Given the description of an element on the screen output the (x, y) to click on. 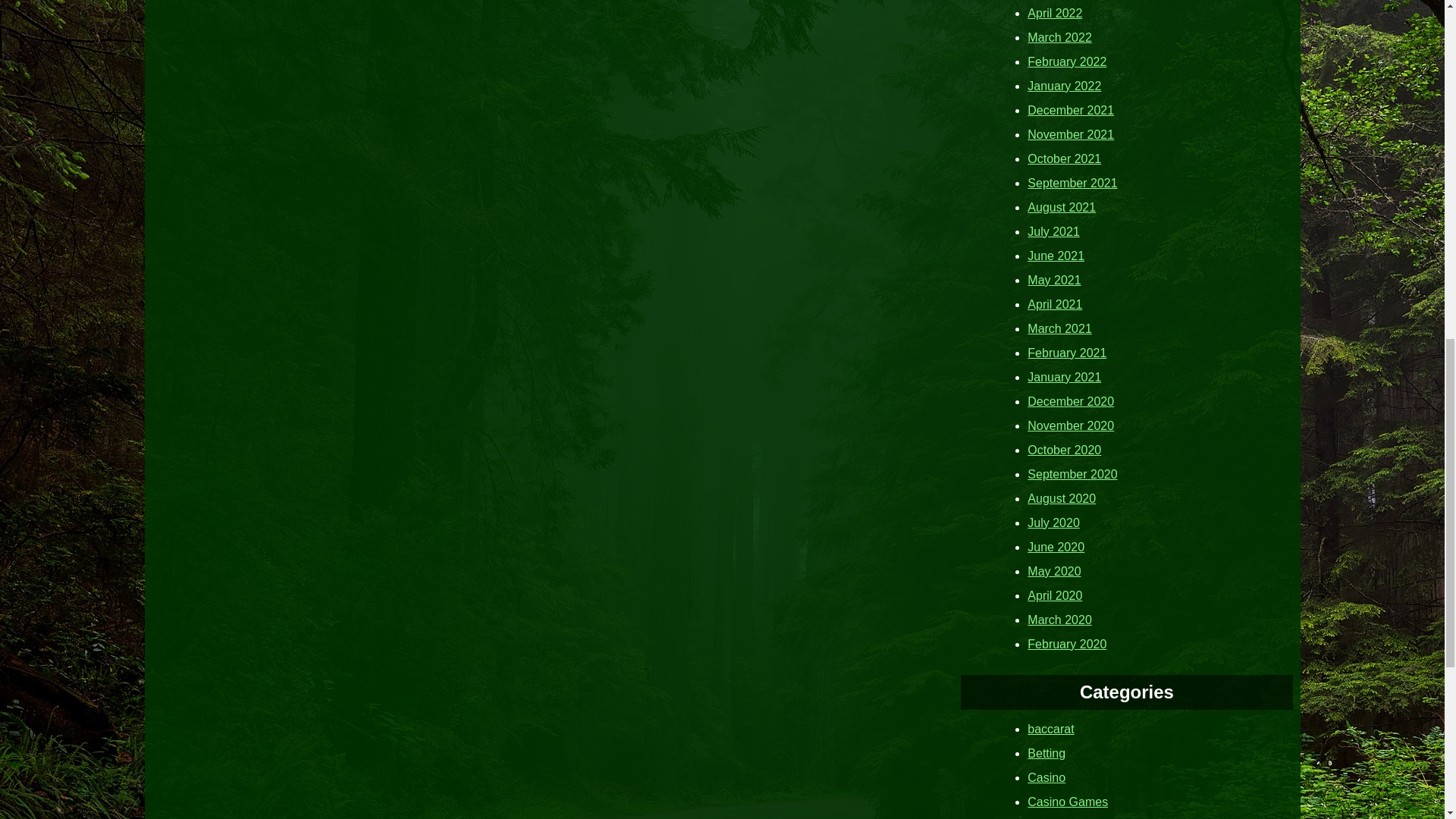
March 2021 (1059, 327)
December 2021 (1070, 109)
November 2021 (1070, 133)
February 2021 (1066, 351)
August 2021 (1061, 205)
January 2022 (1063, 84)
May 2021 (1053, 278)
June 2021 (1055, 254)
September 2021 (1071, 182)
April 2021 (1054, 303)
February 2022 (1066, 60)
October 2021 (1063, 157)
April 2022 (1054, 11)
July 2021 (1053, 230)
March 2022 (1059, 36)
